Given the description of an element on the screen output the (x, y) to click on. 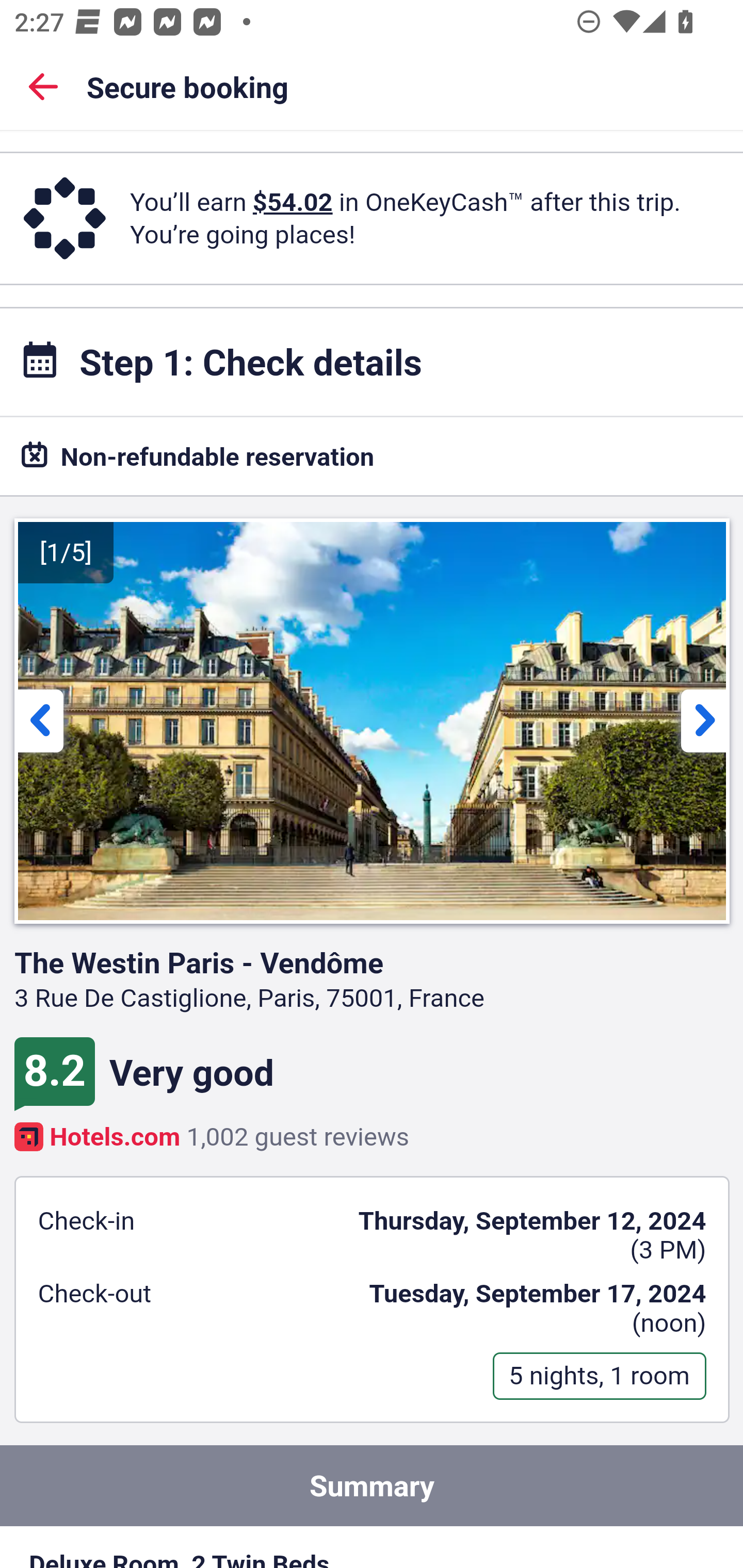
Back (43, 86)
